Given the description of an element on the screen output the (x, y) to click on. 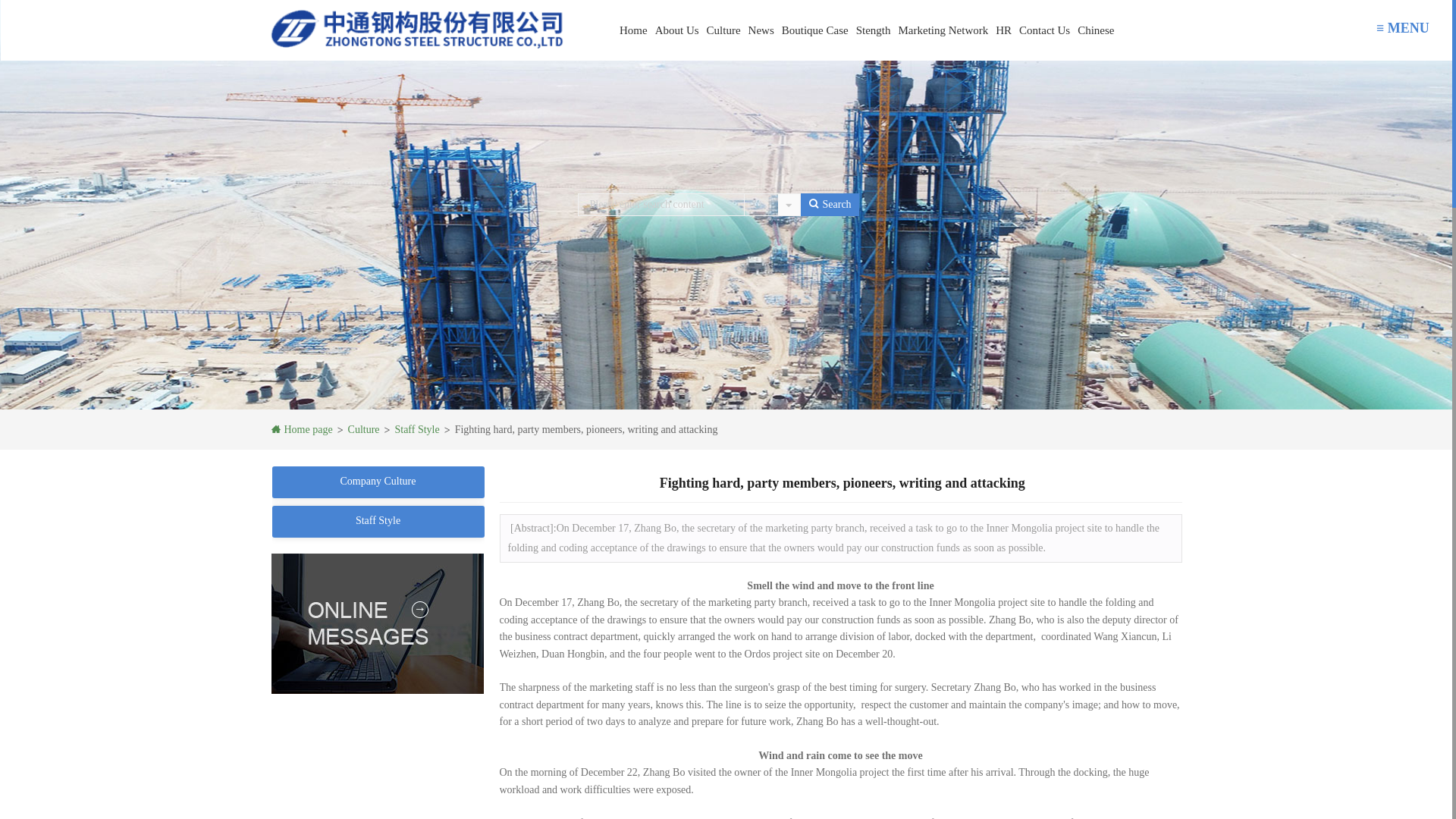
Contact Us (1044, 29)
Boutique Case (814, 2)
Marketing Network (943, 24)
Stength (873, 17)
